Given the description of an element on the screen output the (x, y) to click on. 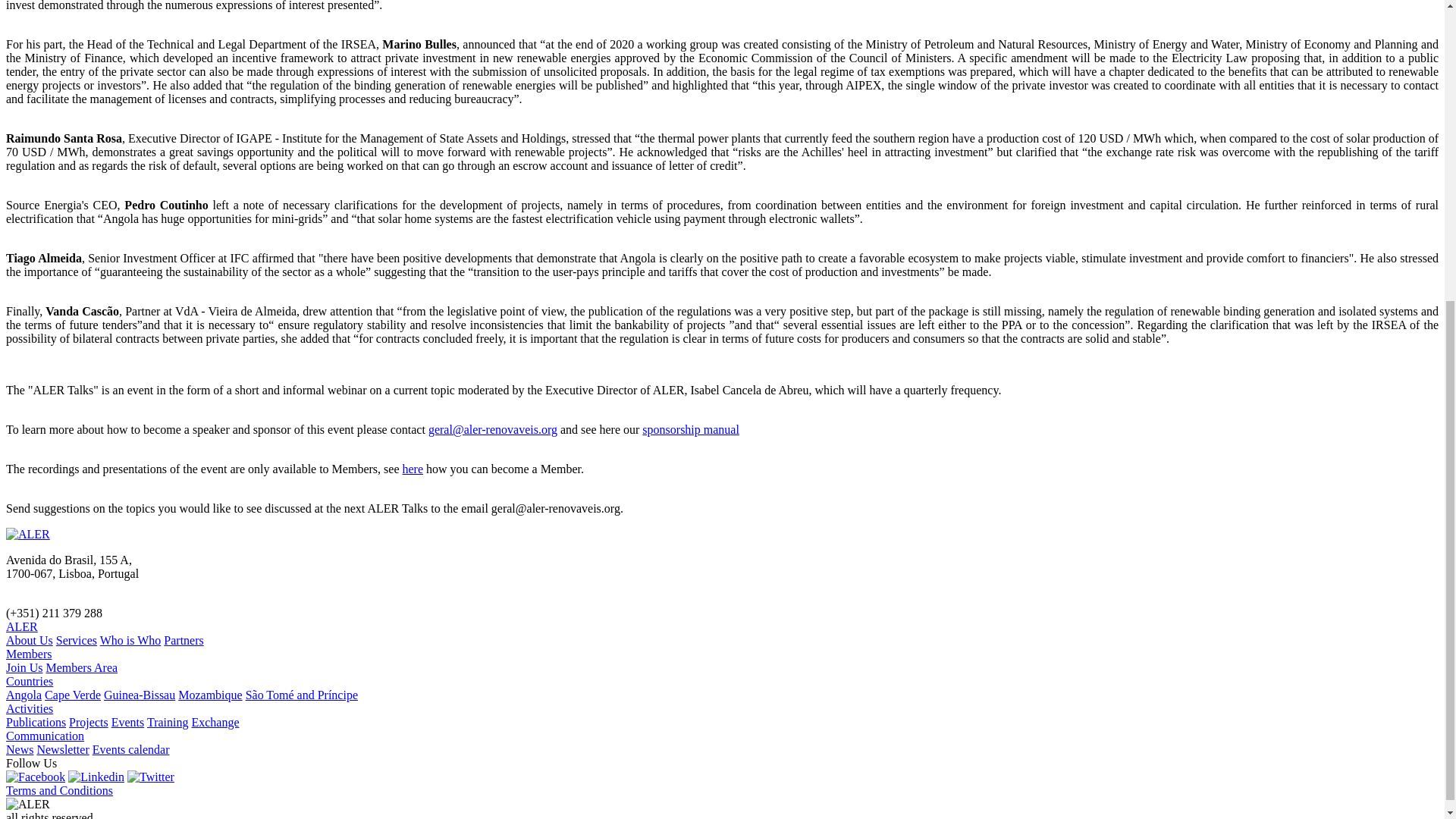
Twitter (151, 776)
ALER (21, 626)
Services (76, 640)
About Us (28, 640)
here (412, 468)
Linkedin (95, 776)
Facebook (35, 776)
sponsorship manual (690, 429)
